Given the description of an element on the screen output the (x, y) to click on. 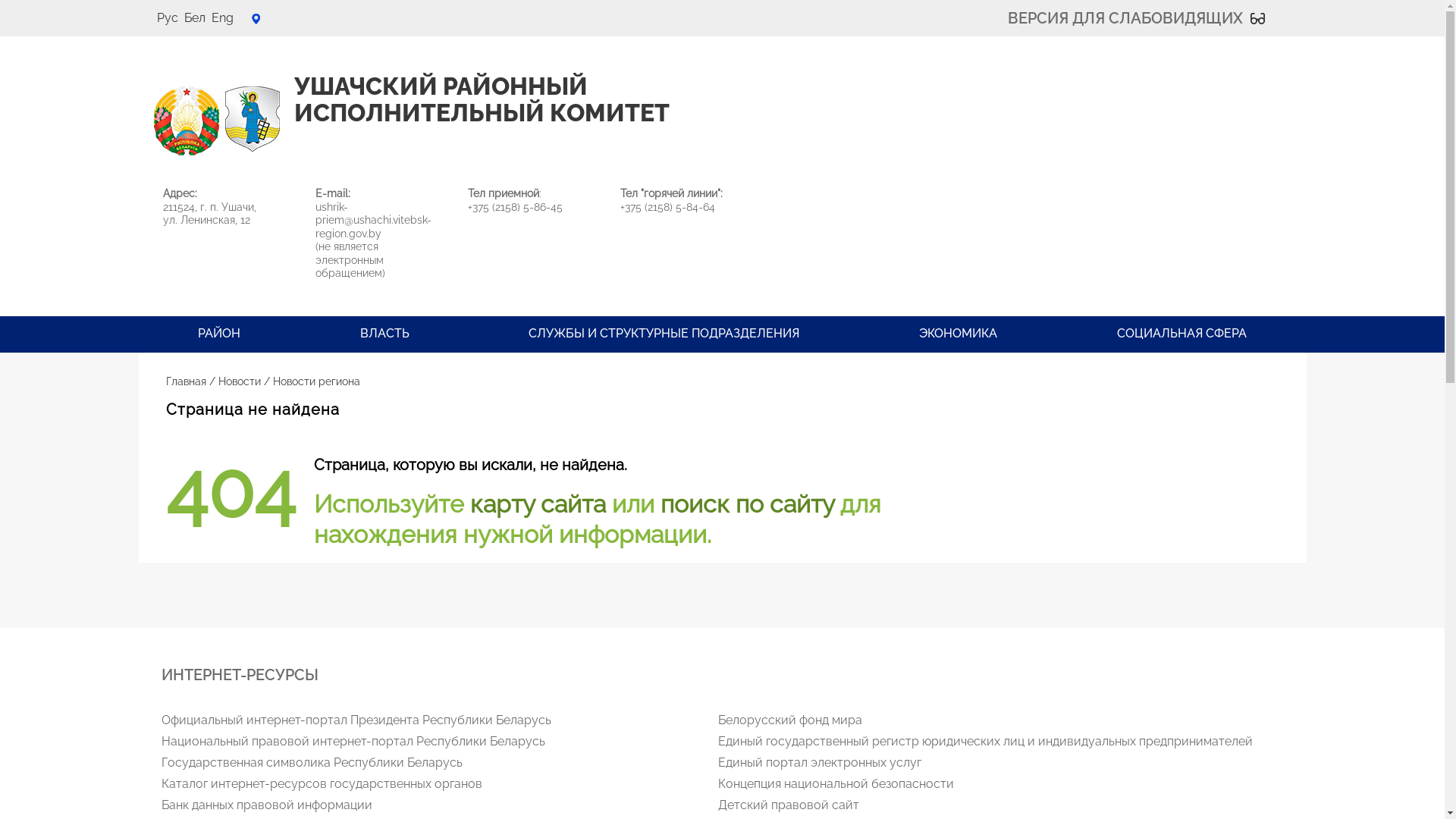
ushrik-priem@ushachi.vitebsk-region.gov.by Element type: text (373, 219)
Eng Element type: text (221, 17)
